Given the description of an element on the screen output the (x, y) to click on. 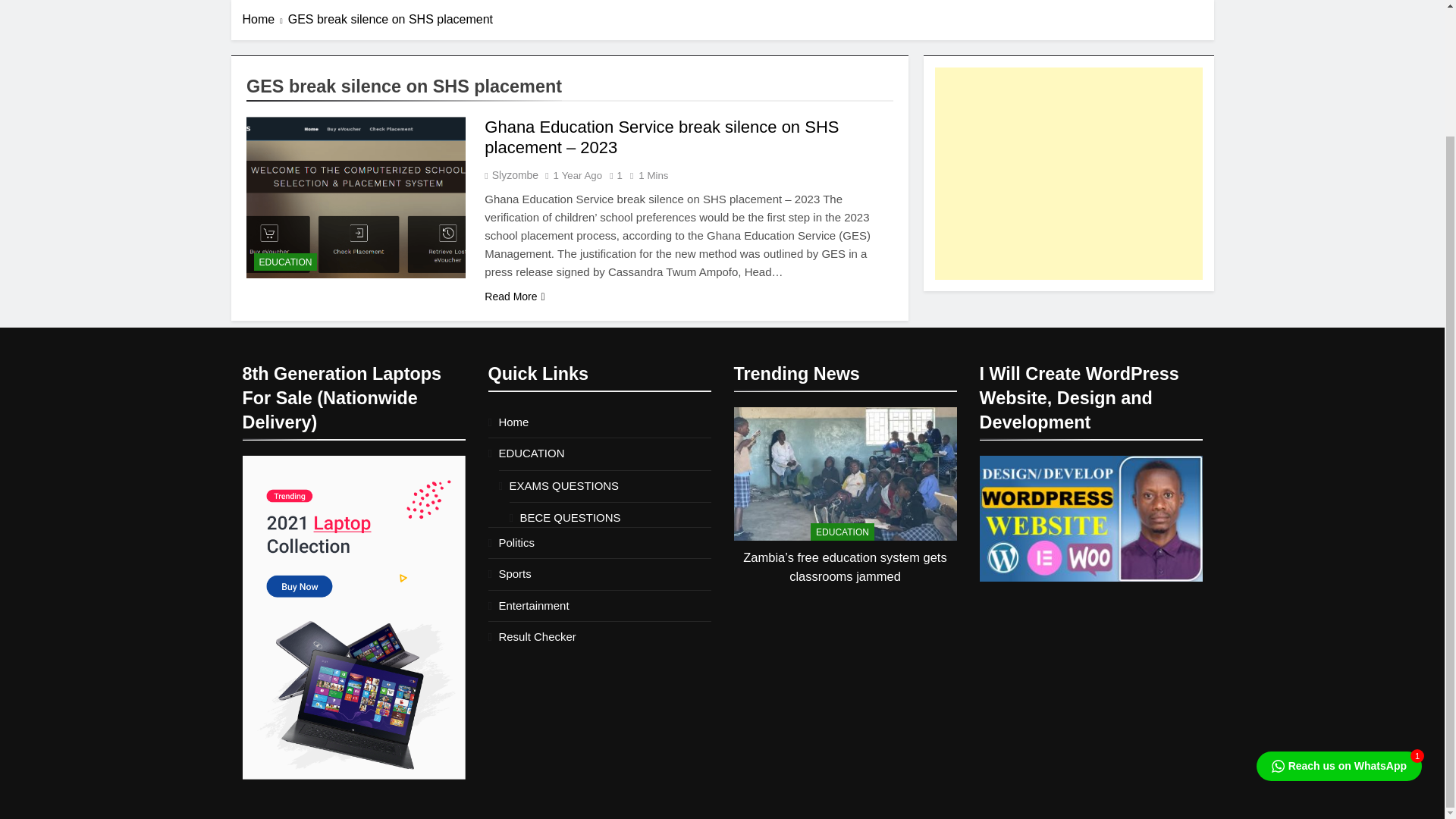
EDUCATION (285, 262)
Home (265, 19)
EDUCATION (531, 452)
Slyzombe (513, 174)
Read More (514, 296)
Result Checker (537, 635)
1 (612, 174)
Advertisement (1068, 173)
Entertainment (534, 604)
BECE QUESTIONS (570, 517)
Home (514, 421)
EDUCATION (842, 531)
EXAMS QUESTIONS (564, 485)
1 Year Ago (577, 174)
Politics (516, 542)
